Given the description of an element on the screen output the (x, y) to click on. 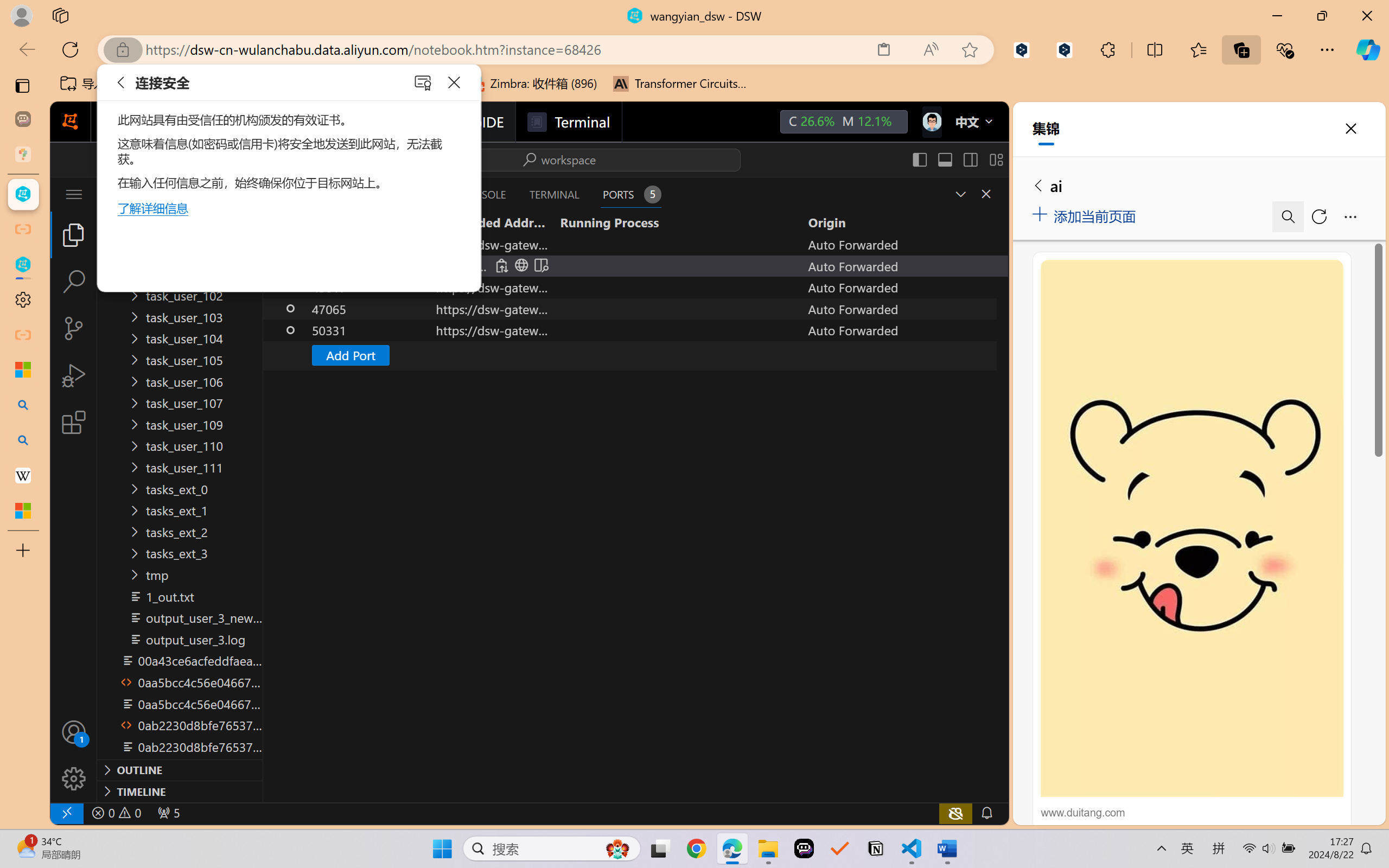
wangyian_dsw - DSW (22, 194)
Ports - 5 forwarded ports Ports - 5 forwarded ports (630, 194)
Toggle Primary Side Bar (Ctrl+B) (919, 159)
Add Port (635, 355)
No Problems (115, 812)
Run and Debug (Ctrl+Shift+D) (73, 375)
